Given the description of an element on the screen output the (x, y) to click on. 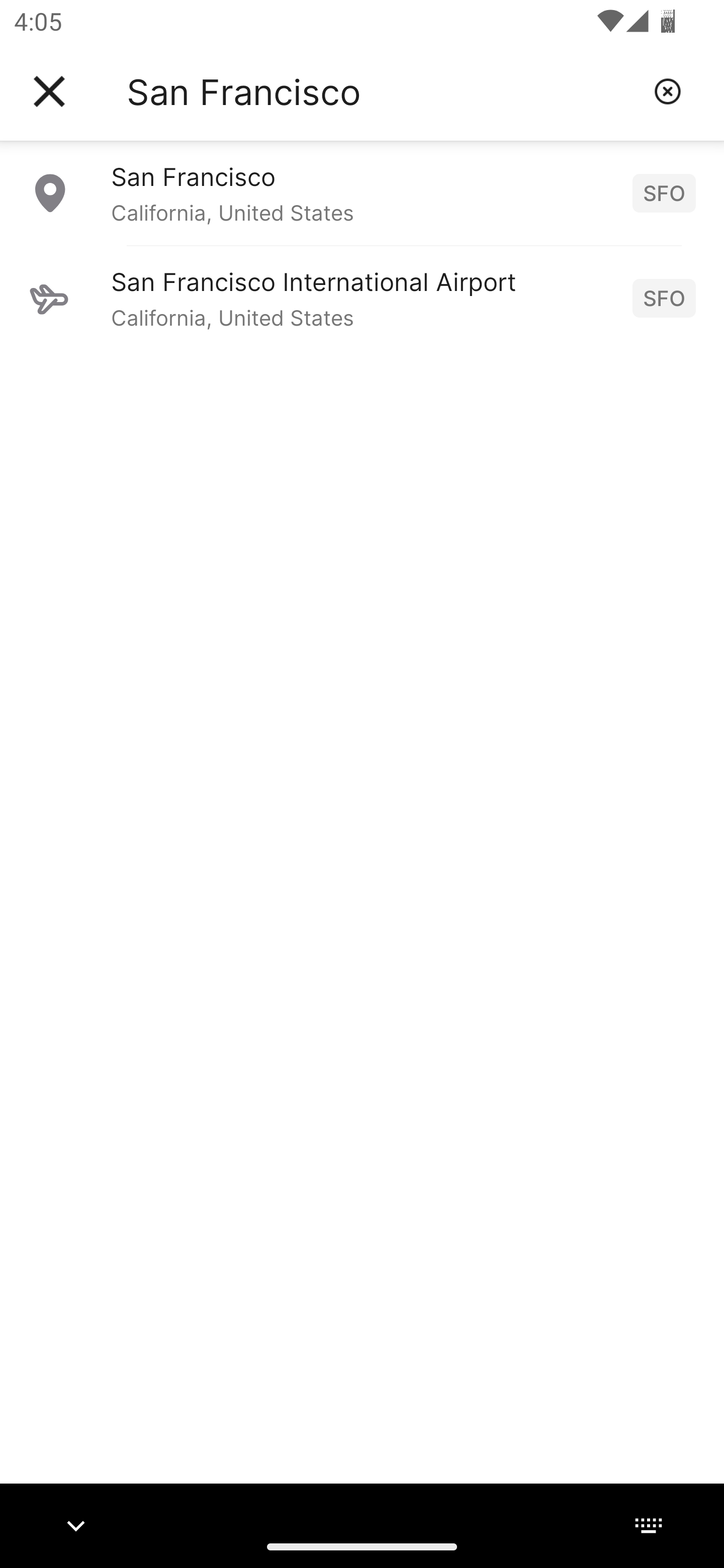
San Francisco (382, 91)
San Francisco California, United States SFO (362, 192)
